Given the description of an element on the screen output the (x, y) to click on. 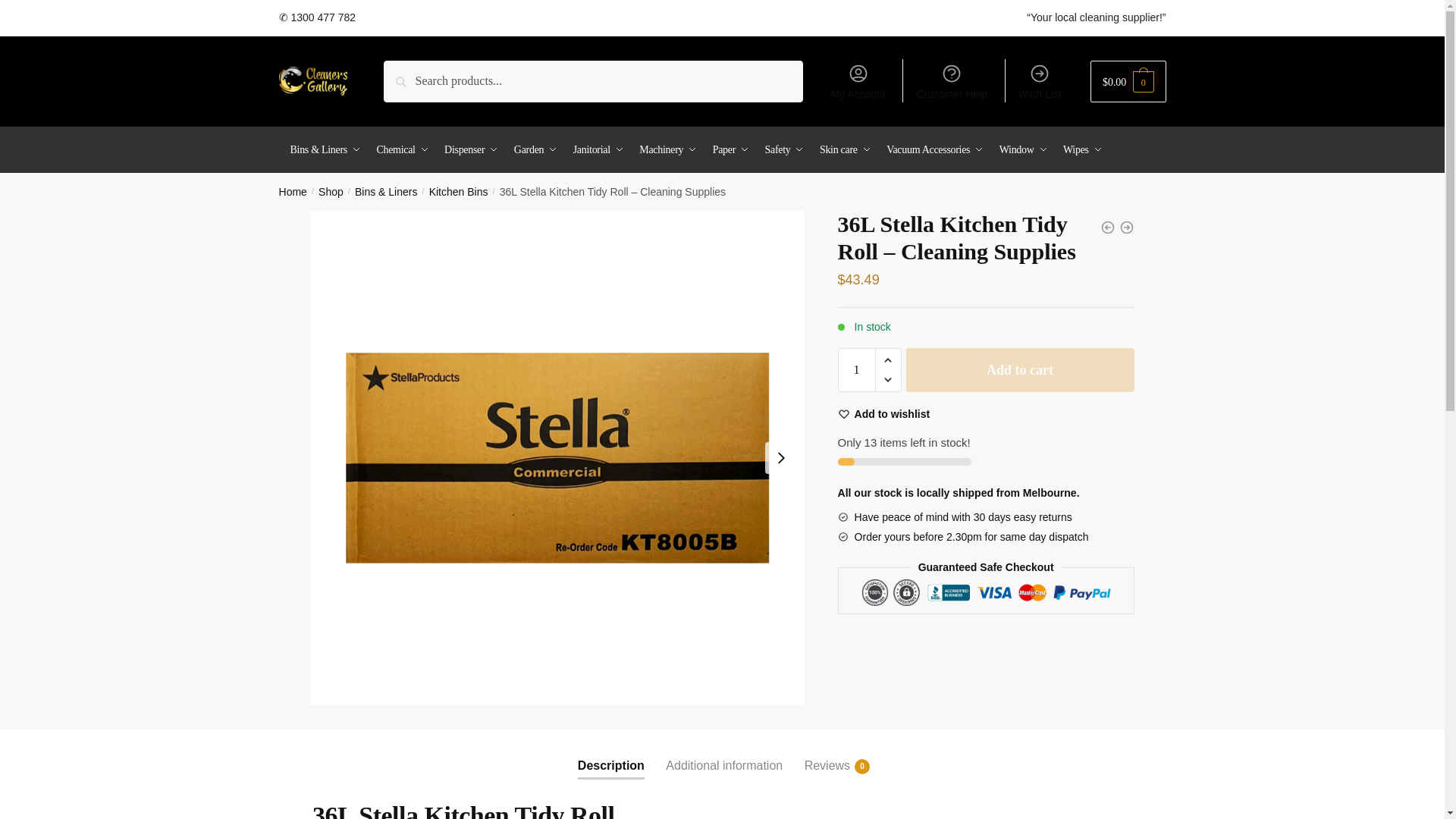
Dispenser (464, 149)
Wish List (1039, 80)
Wishlist (884, 413)
Customer Help (951, 80)
My Account (858, 80)
View your shopping cart (1128, 81)
Search (418, 77)
Chemical (396, 149)
